Given the description of an element on the screen output the (x, y) to click on. 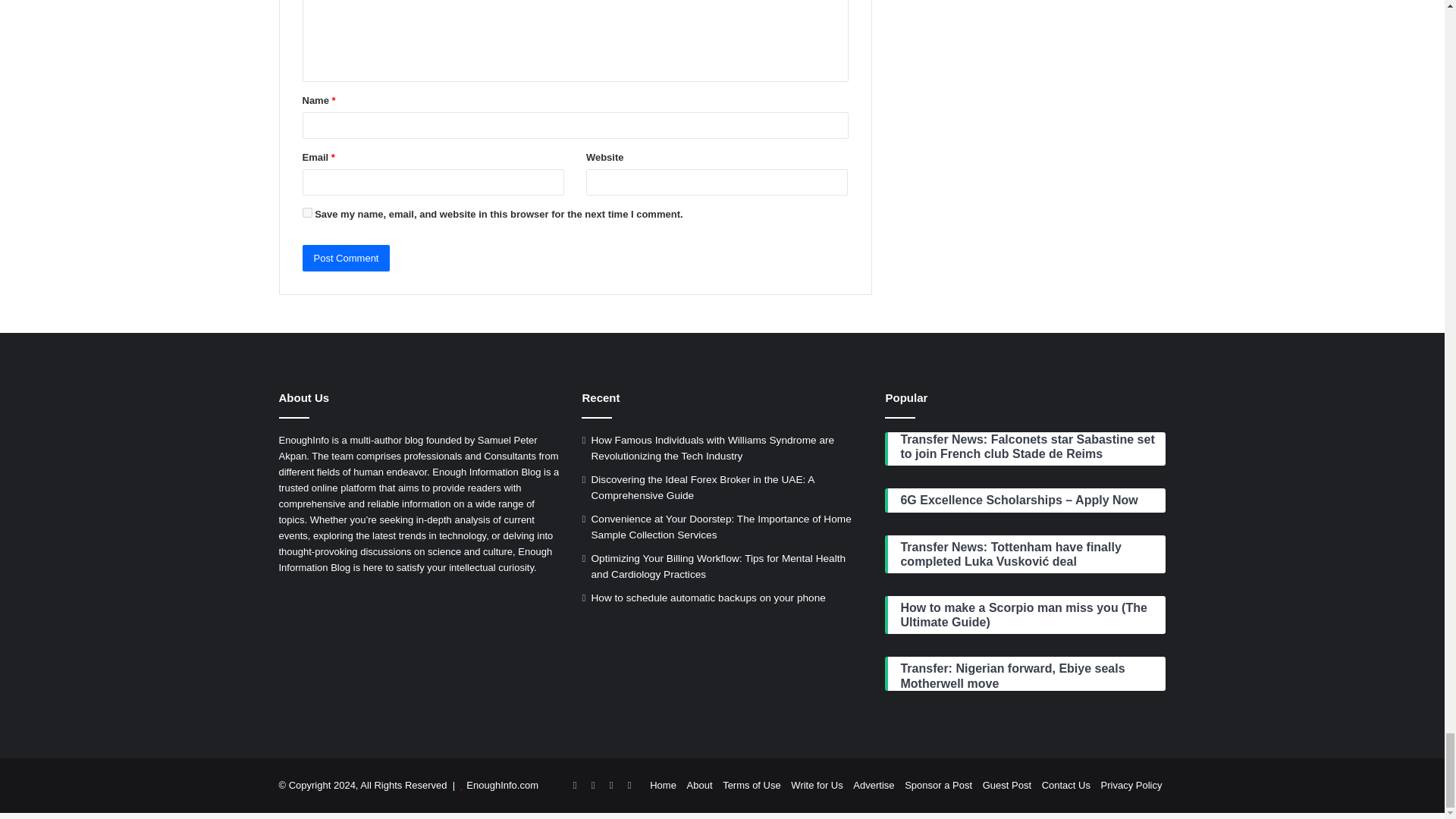
yes (306, 212)
Post Comment (345, 257)
